Given the description of an element on the screen output the (x, y) to click on. 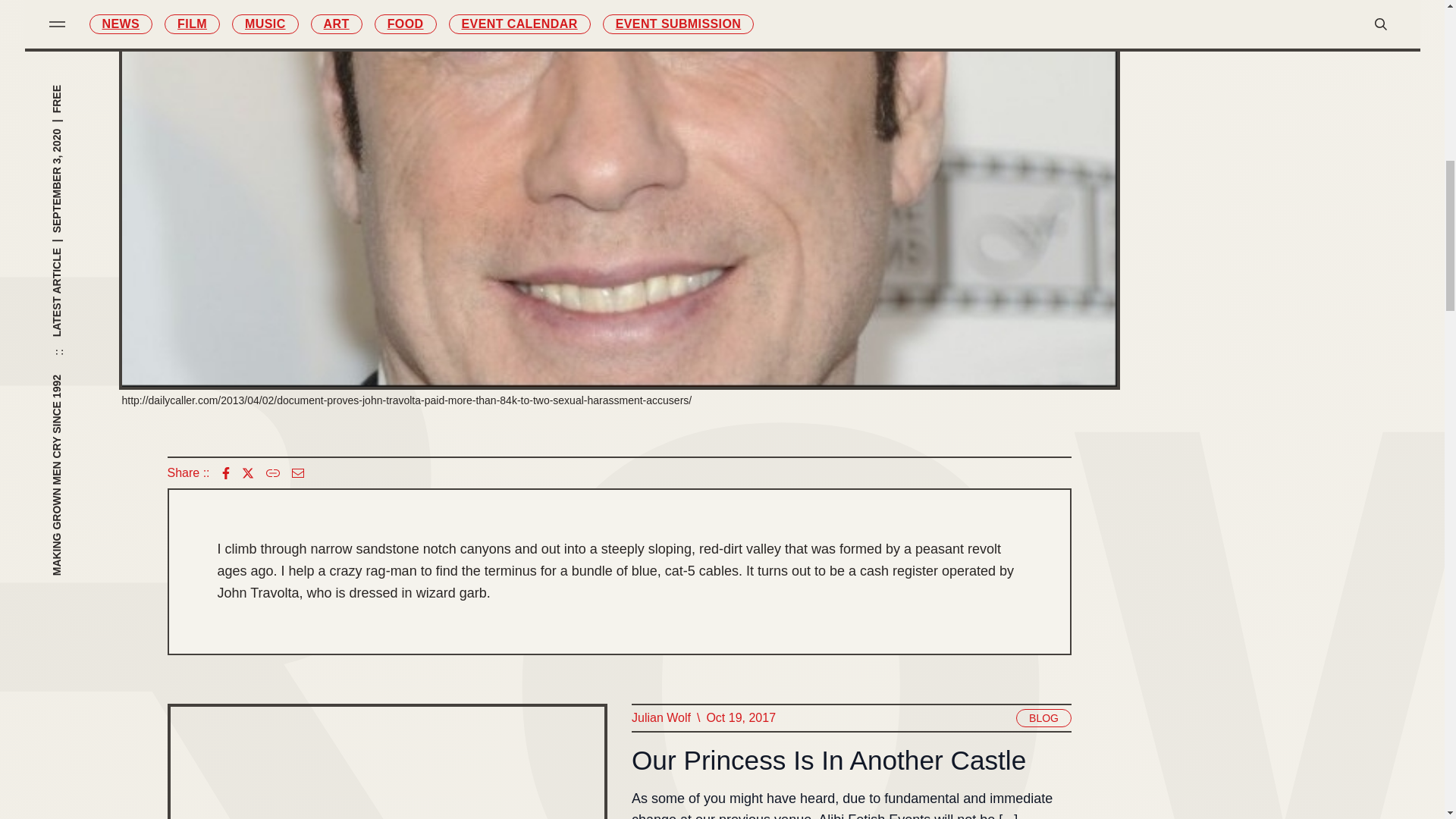
Julian Wolf (660, 717)
BLOG (1043, 718)
Advertisement (1280, 227)
